Given the description of an element on the screen output the (x, y) to click on. 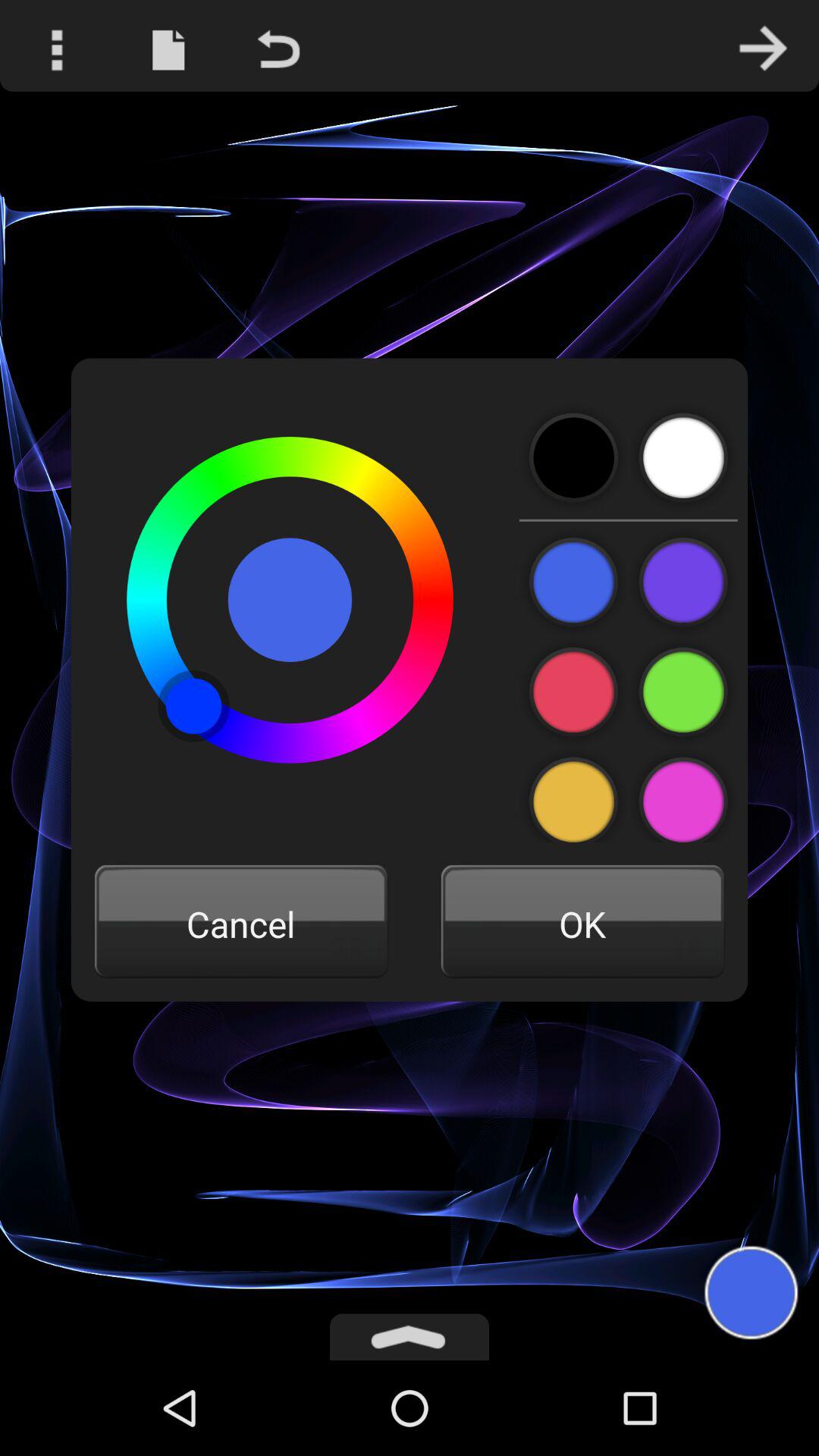
changes color palette (683, 794)
